Given the description of an element on the screen output the (x, y) to click on. 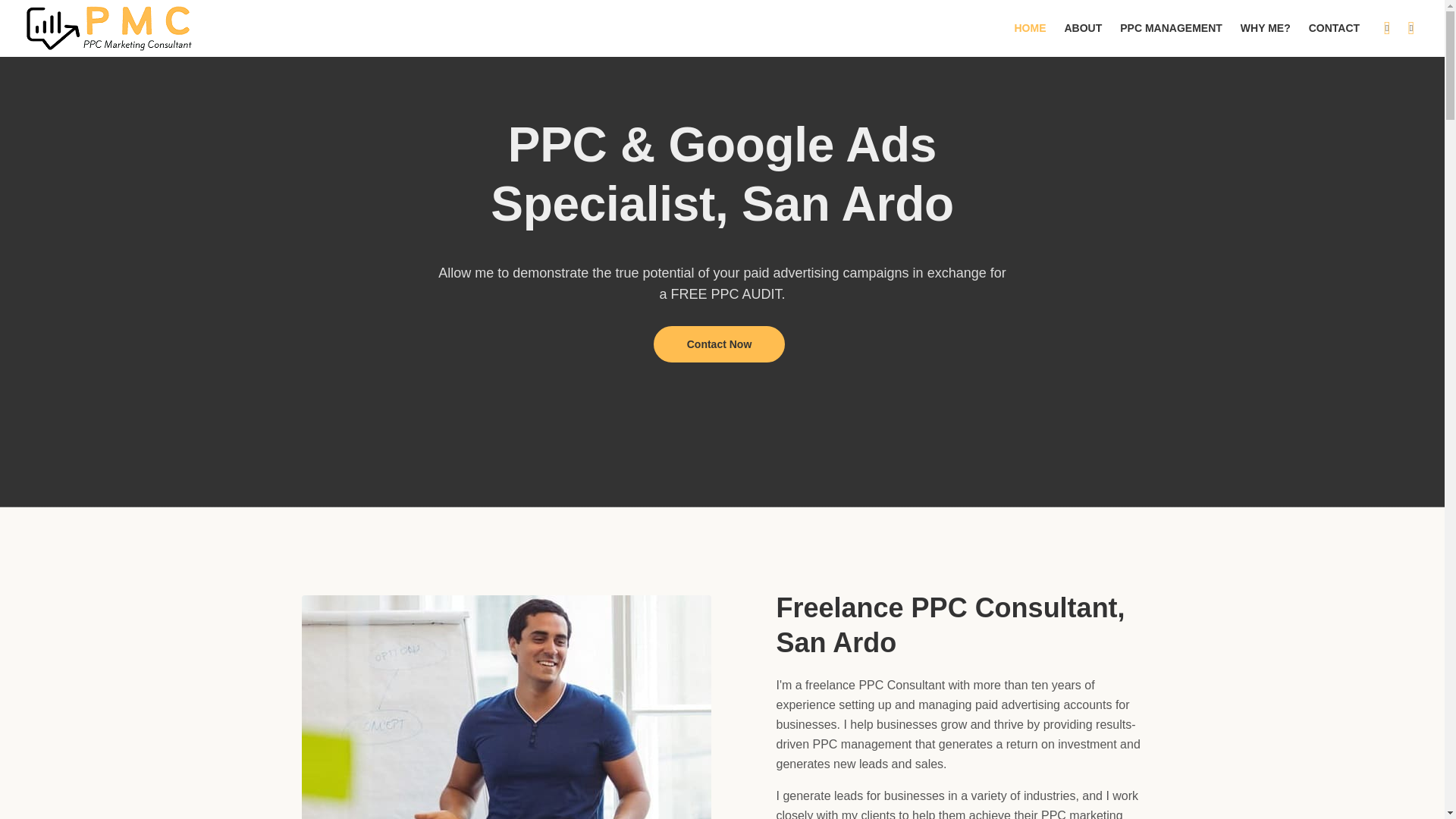
ABOUT (1083, 27)
PPC MANAGEMENT (1170, 27)
CONTACT (1334, 27)
Contact Now (719, 343)
CONTACT (1334, 27)
WHY ME? (1265, 27)
PPC MANAGEMENT (1170, 27)
WHY ME? (1265, 27)
ABOUT (1083, 27)
Contact Now (719, 343)
